Given the description of an element on the screen output the (x, y) to click on. 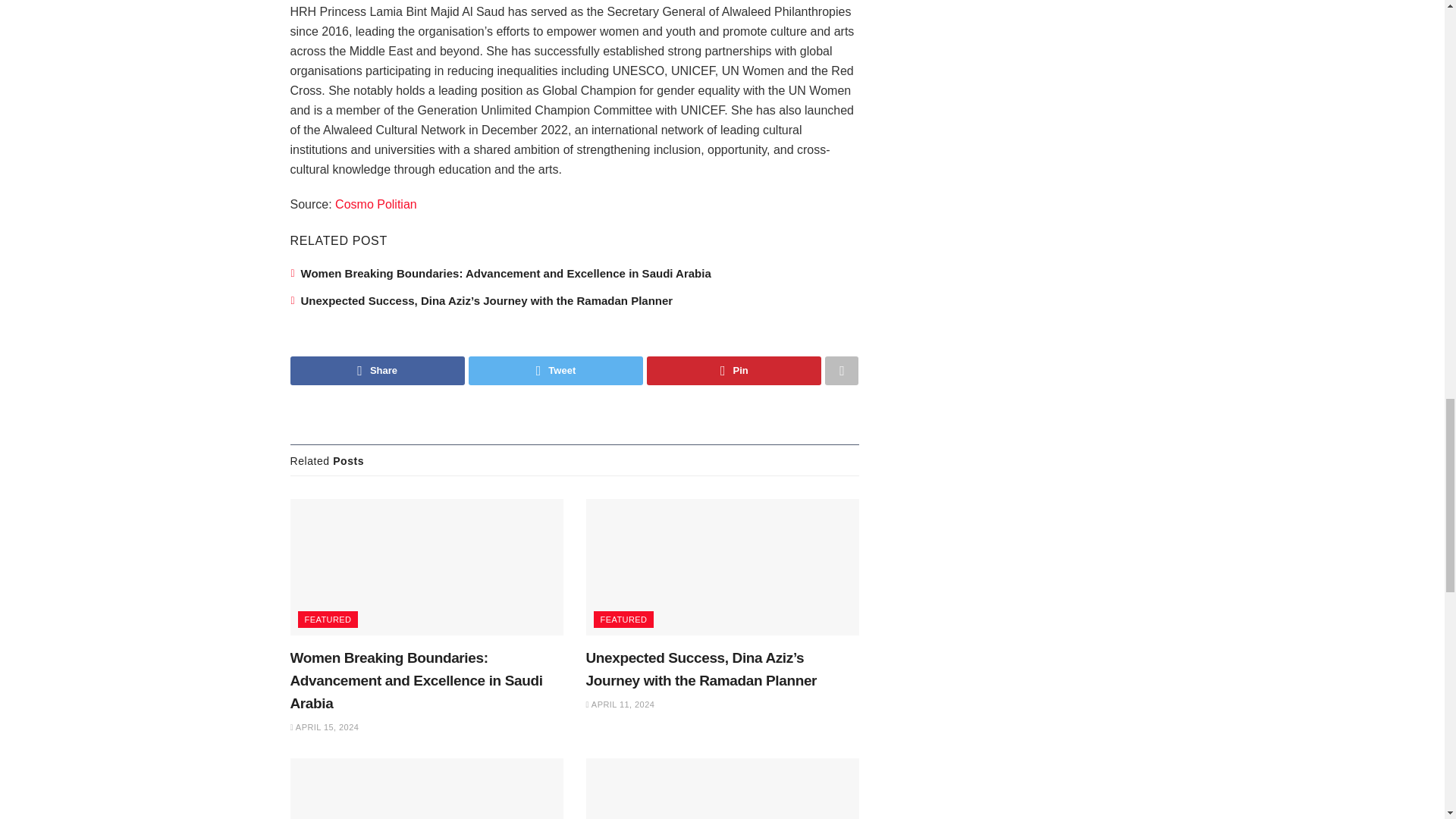
Cosmo Politian (375, 204)
